Given the description of an element on the screen output the (x, y) to click on. 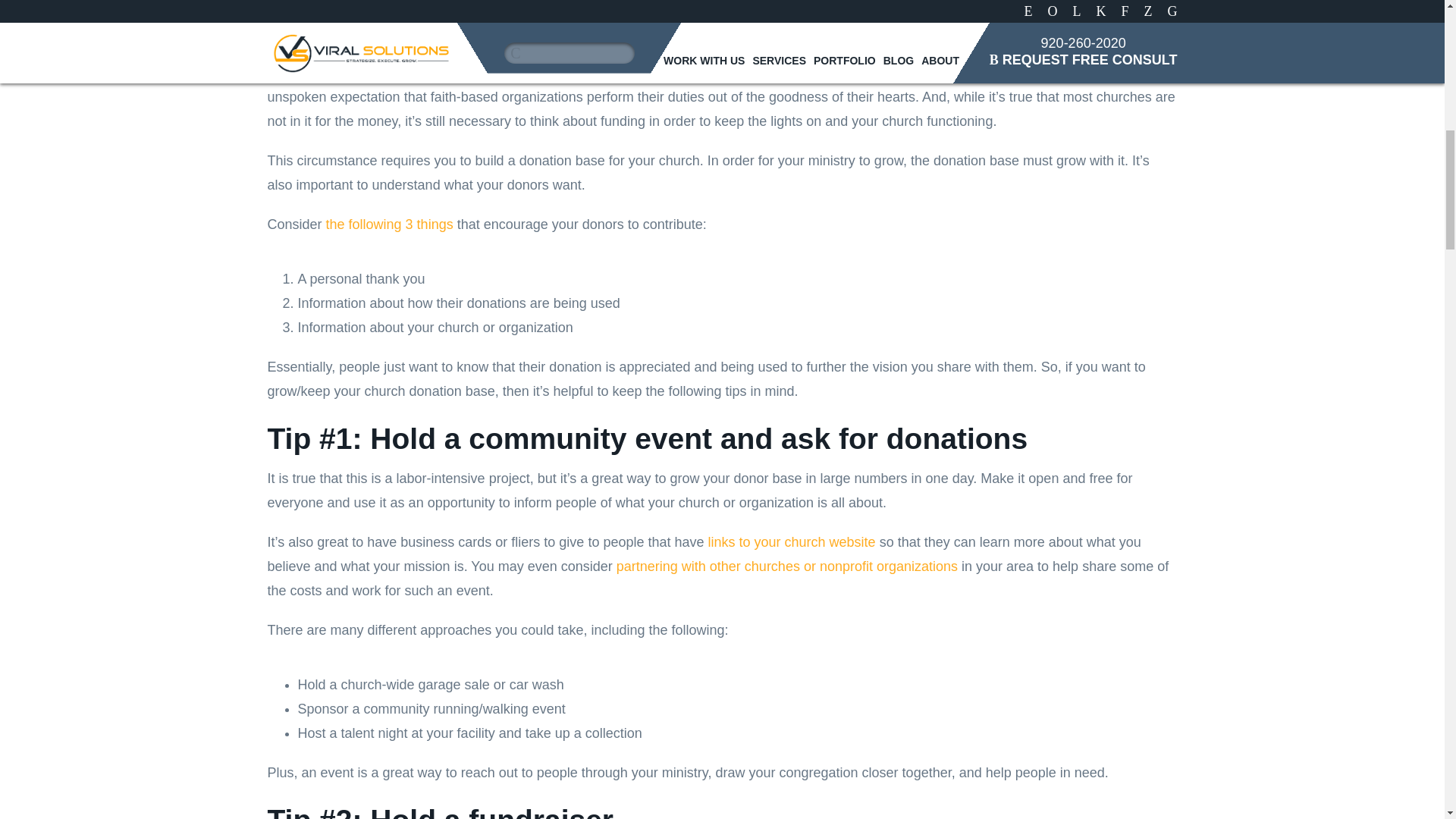
the following 3 things (389, 224)
